Given the description of an element on the screen output the (x, y) to click on. 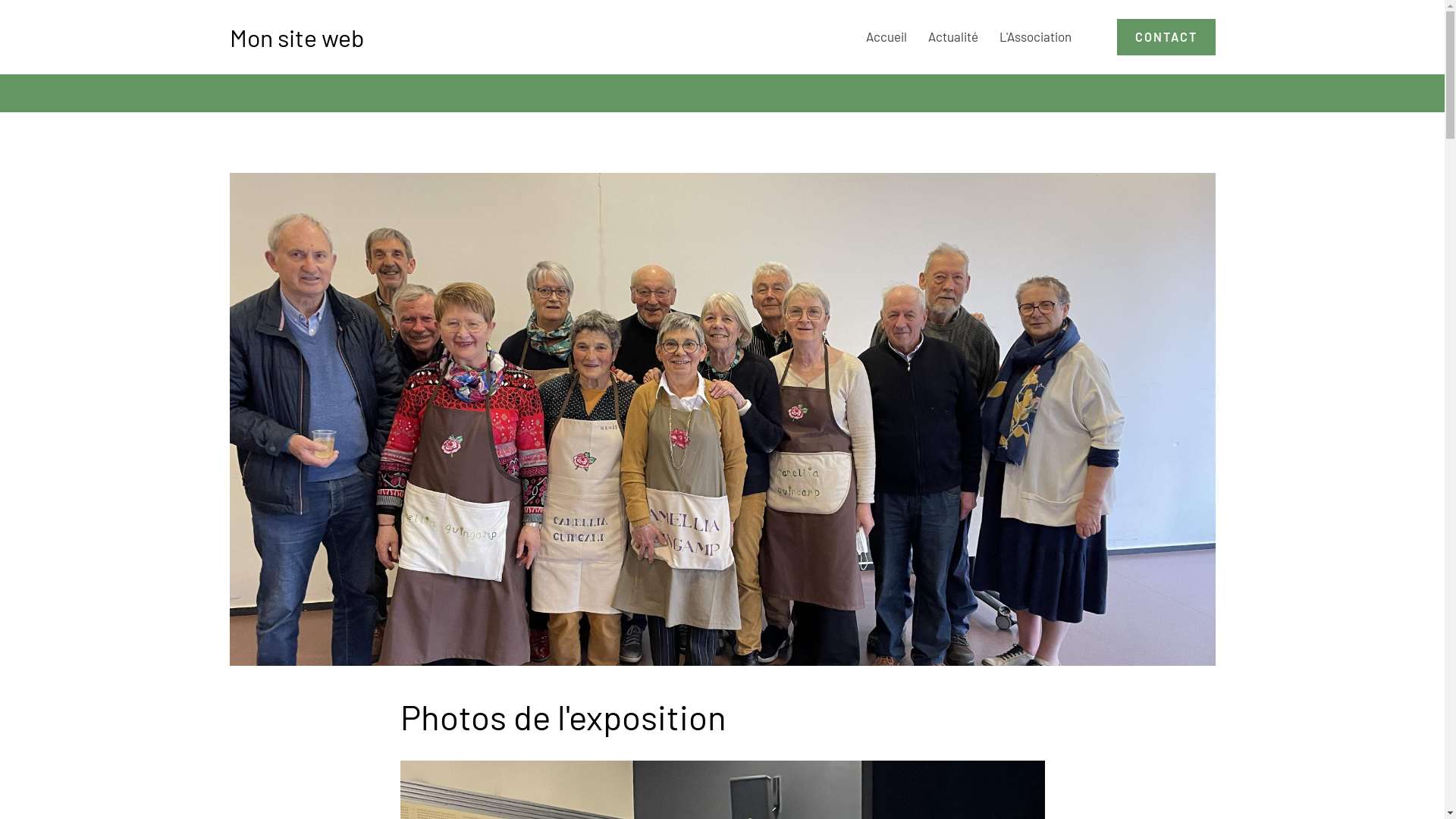
Mon site web Element type: text (296, 36)
CONTACT Element type: text (1165, 36)
Accueil Element type: text (886, 36)
L'Association Element type: text (1035, 36)
Photos de l'exposition Element type: hover (721, 418)
